Given the description of an element on the screen output the (x, y) to click on. 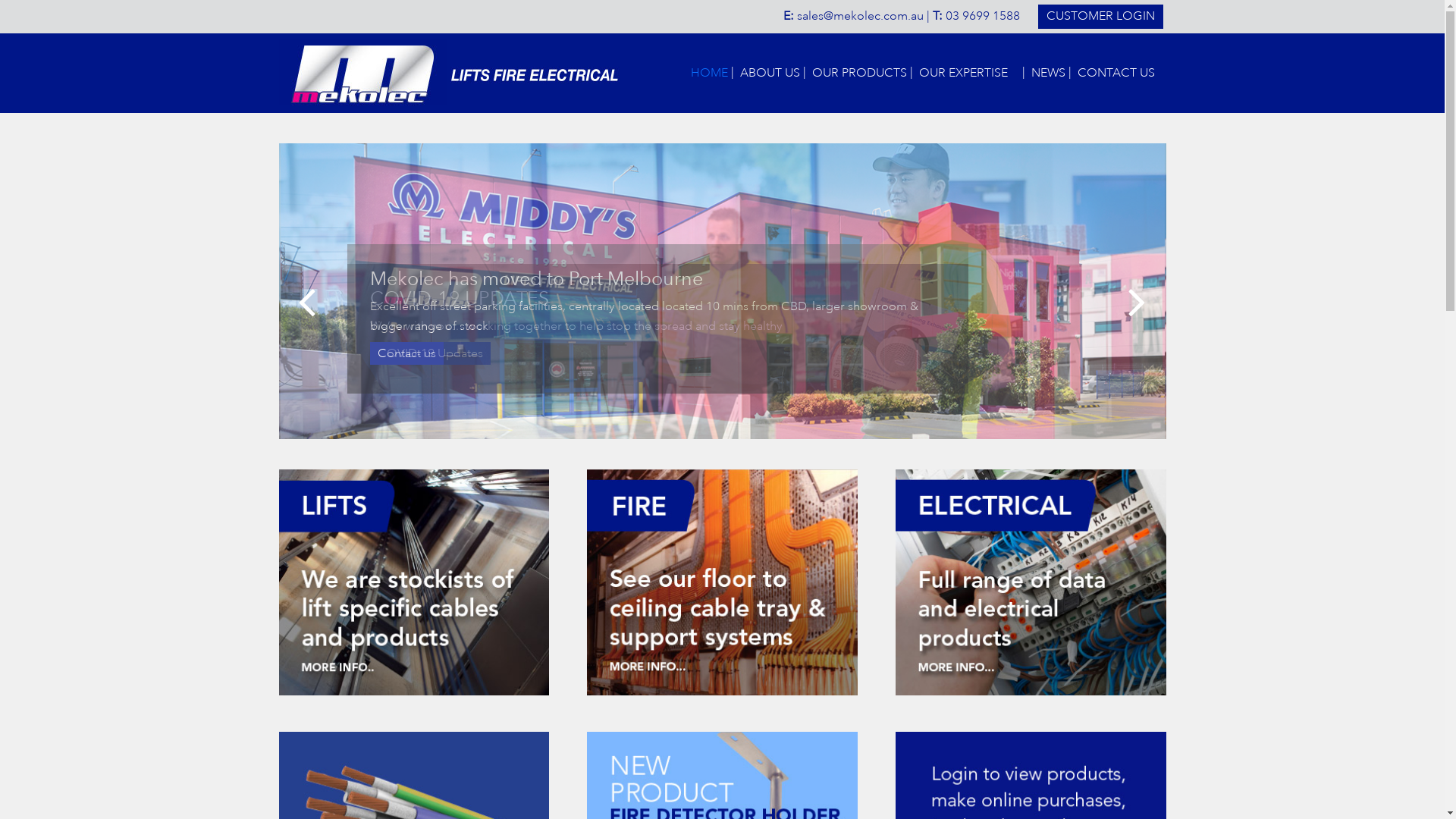
ABOUT US Element type: text (770, 73)
CONTACT US Element type: text (1119, 73)
sales@mekolec.com.au Element type: text (859, 16)
Next Element type: text (1135, 301)
Lifts industry Element type: hover (414, 691)
03 9699 1588 Element type: text (981, 16)
HOME Element type: text (708, 73)
OUR EXPERTISE Element type: text (967, 73)
Prev Element type: text (309, 301)
electrical industry Element type: hover (1030, 691)
COVID-19 Updates Element type: text (430, 353)
OUR PRODUCTS Element type: text (858, 73)
Fire industry Element type: hover (721, 691)
CUSTOMER LOGIN Element type: text (1099, 16)
NEWS Element type: text (1048, 73)
